Given the description of an element on the screen output the (x, y) to click on. 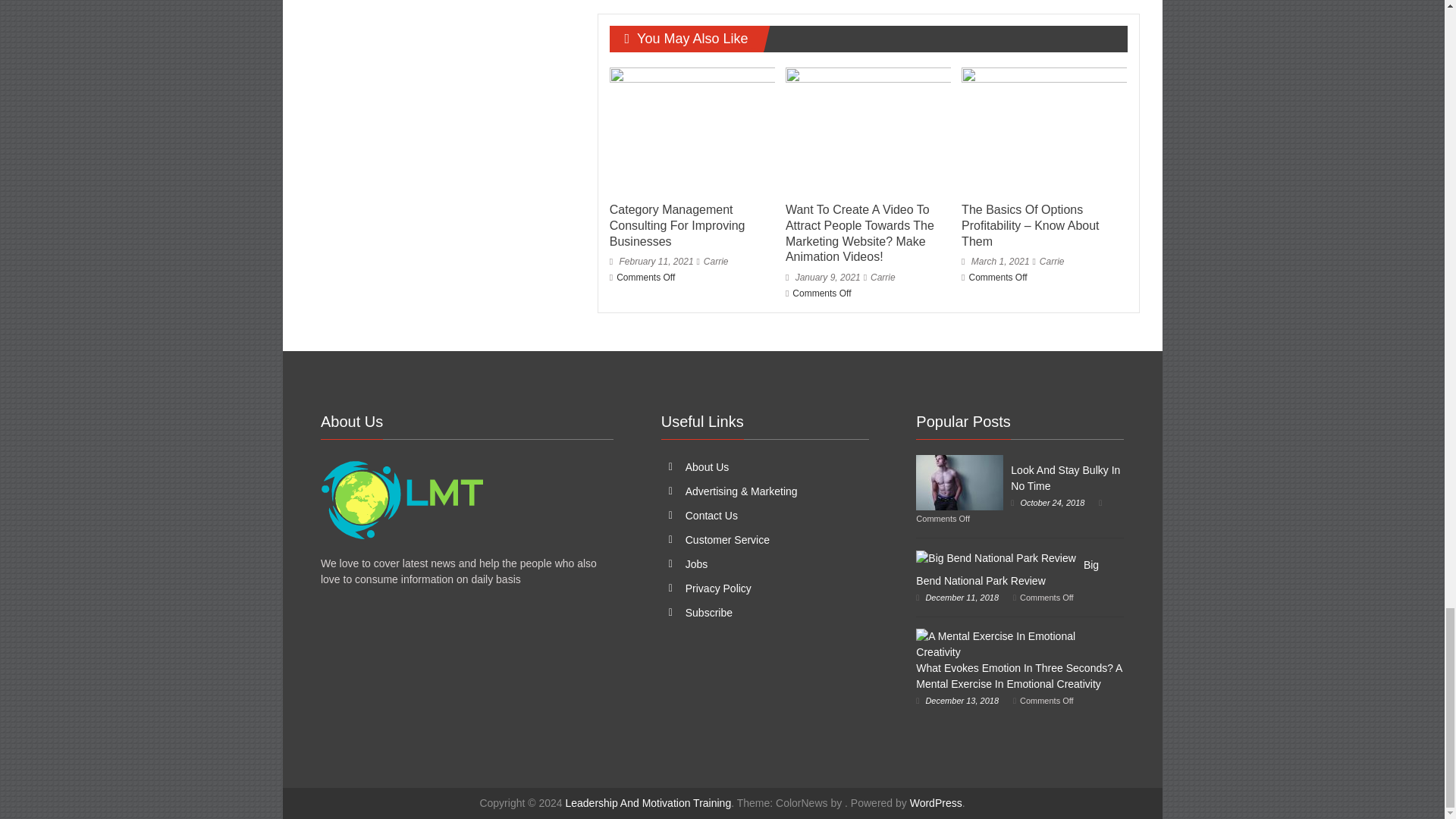
Category Management Consulting For Improving Businesses (692, 130)
Carrie (882, 276)
10:52 am (652, 261)
Carrie (716, 261)
Carrie (716, 261)
January 9, 2021 (823, 276)
February 11, 2021 (652, 261)
Carrie (882, 276)
